Given the description of an element on the screen output the (x, y) to click on. 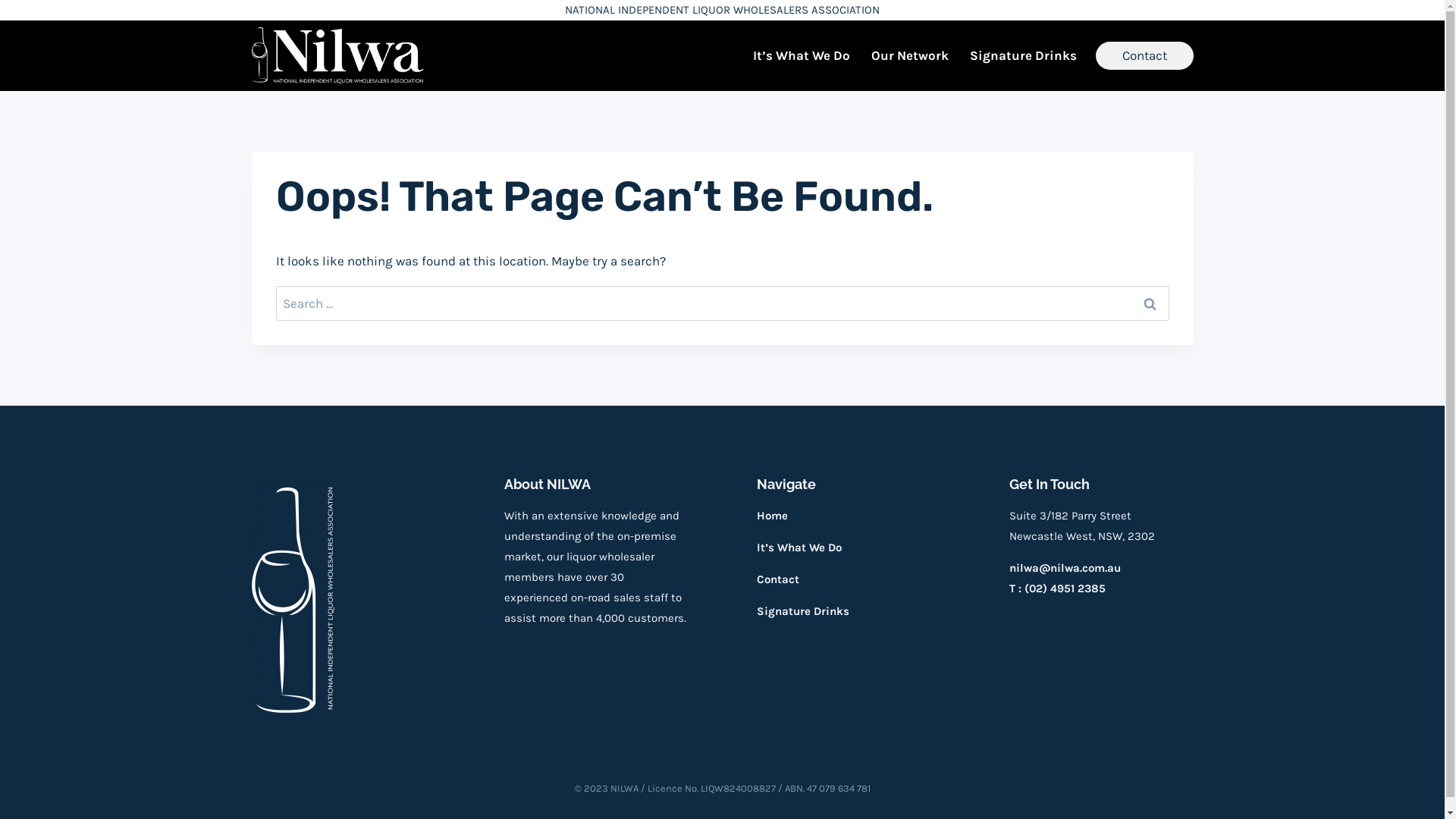
Search Element type: text (1150, 302)
Our Network Element type: text (909, 55)
Home Element type: text (771, 515)
Contact Element type: text (1143, 55)
Signature Drinks Element type: text (1023, 55)
Signature Drinks Element type: text (802, 611)
Contact Element type: text (777, 579)
